Given the description of an element on the screen output the (x, y) to click on. 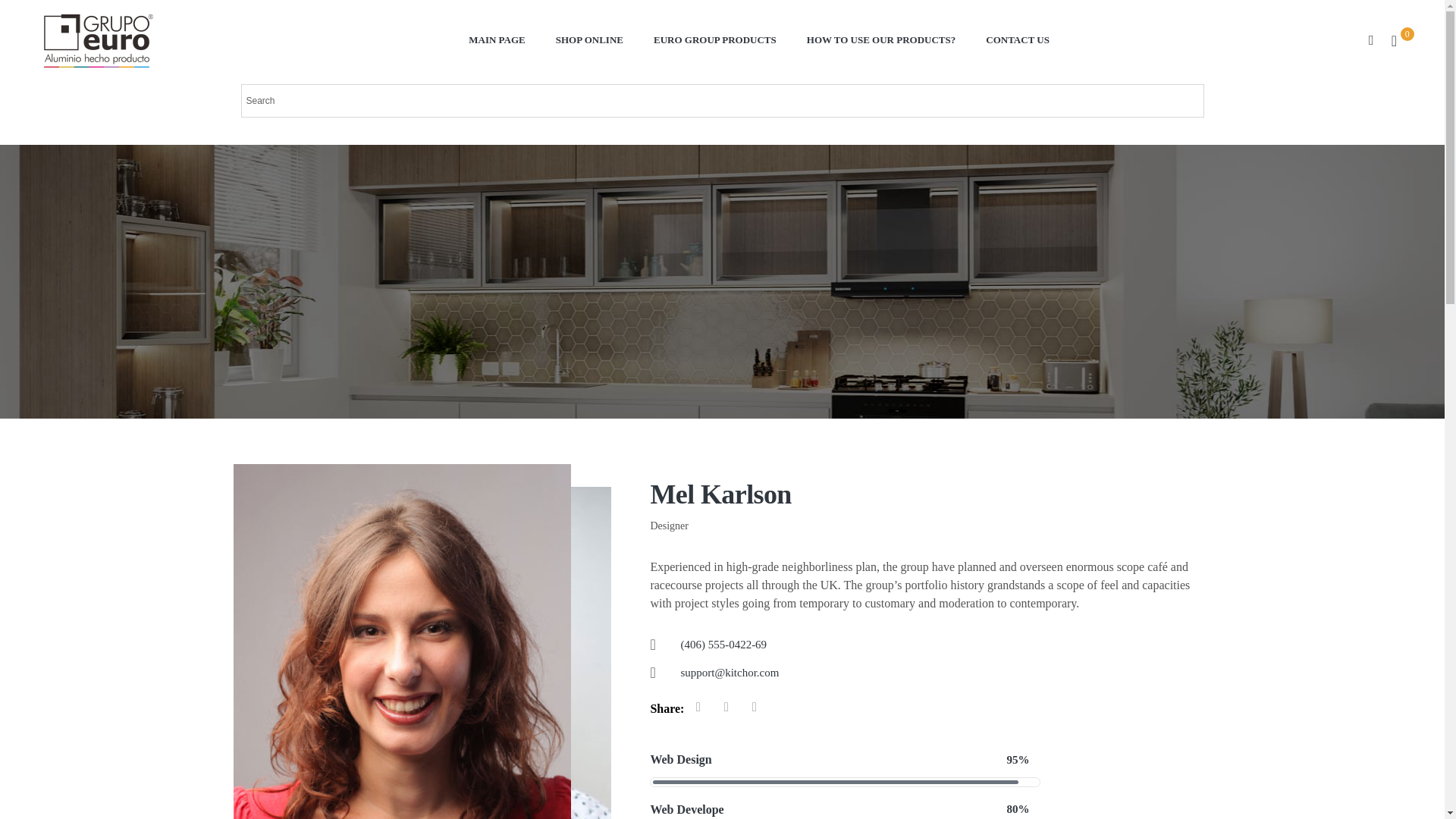
SHOP ONLINE (589, 38)
HOW TO USE OUR PRODUCTS? (881, 38)
0 (1393, 38)
EURO GROUP PRODUCTS (715, 38)
CONTACT US (1017, 38)
Mel Karlson (930, 494)
View your shopping cart (1393, 38)
MAIN PAGE (496, 38)
